Given the description of an element on the screen output the (x, y) to click on. 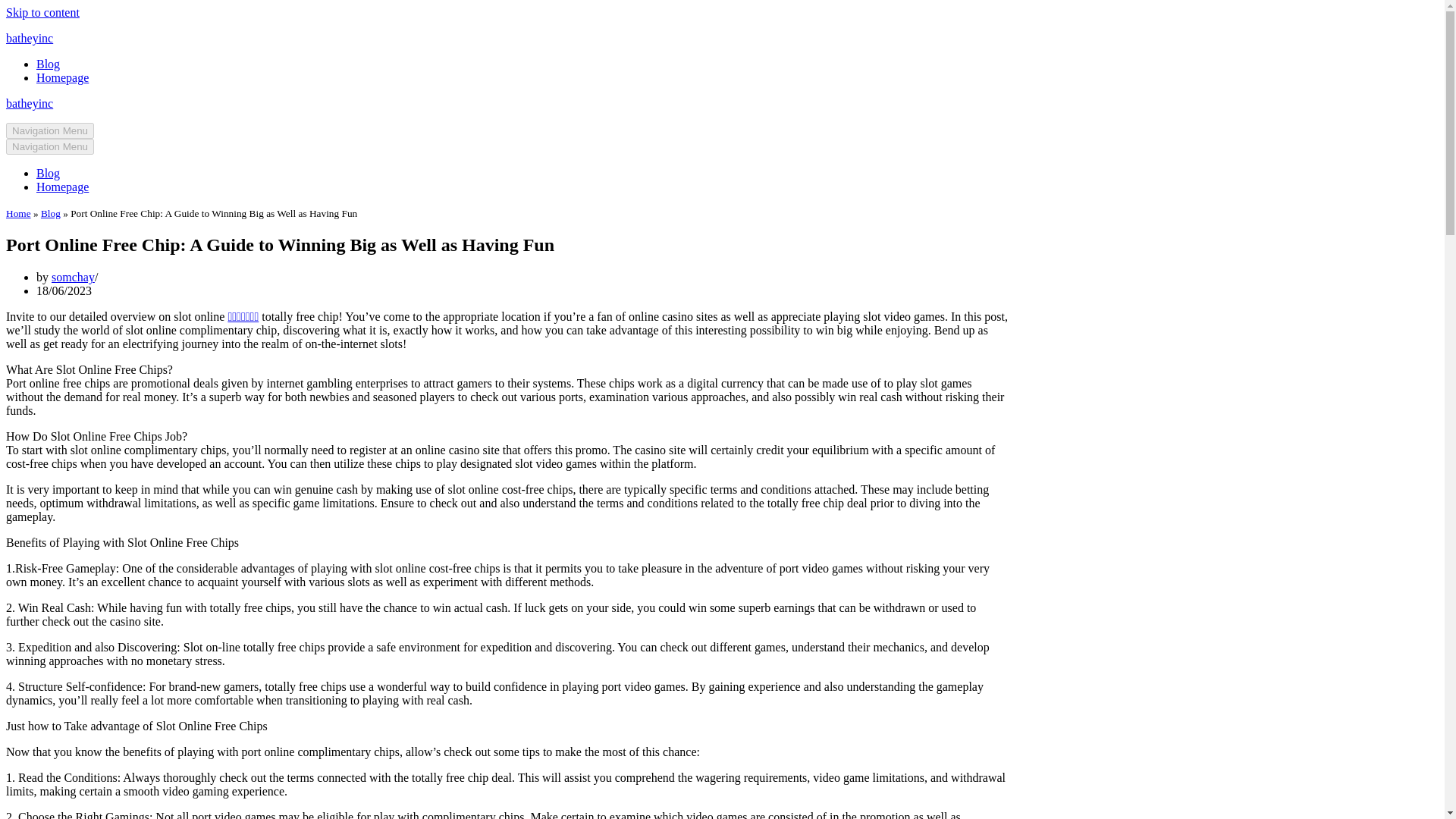
somchay (72, 277)
Posts by somchay (72, 277)
Home (17, 213)
Navigation Menu (49, 146)
Homepage (62, 186)
Blog (47, 63)
Blog (50, 213)
Homepage (62, 77)
Navigation Menu (49, 130)
Blog (47, 173)
Skip to content (42, 11)
